Given the description of an element on the screen output the (x, y) to click on. 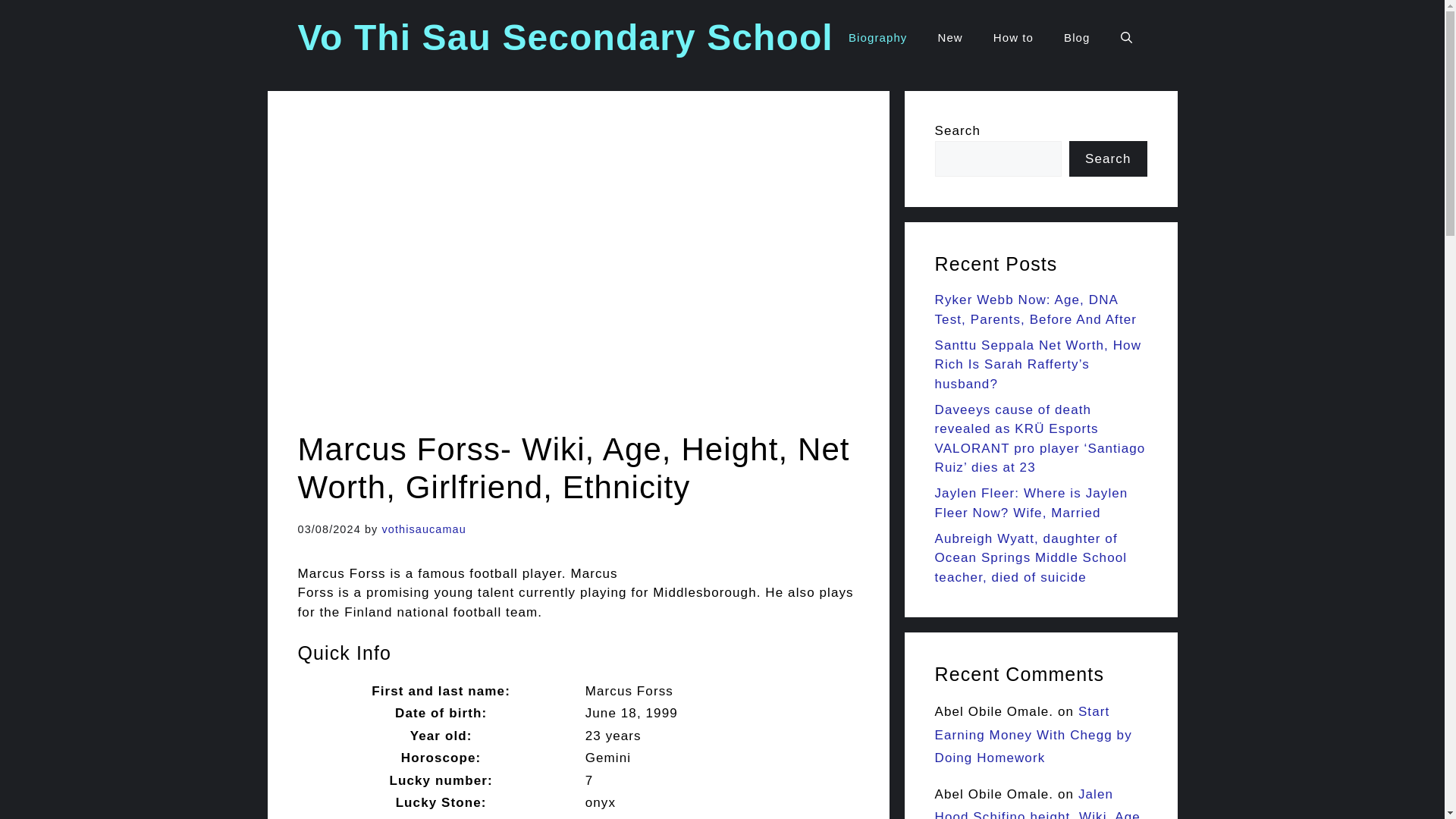
Ryker Webb Now: Age, DNA Test, Parents, Before And After (1035, 309)
New (948, 37)
Search (1107, 158)
View all posts by vothisaucamau (423, 529)
Biography (876, 37)
Jaylen Fleer: Where is Jaylen Fleer Now? Wife, Married (1030, 503)
Blog (1076, 37)
